Given the description of an element on the screen output the (x, y) to click on. 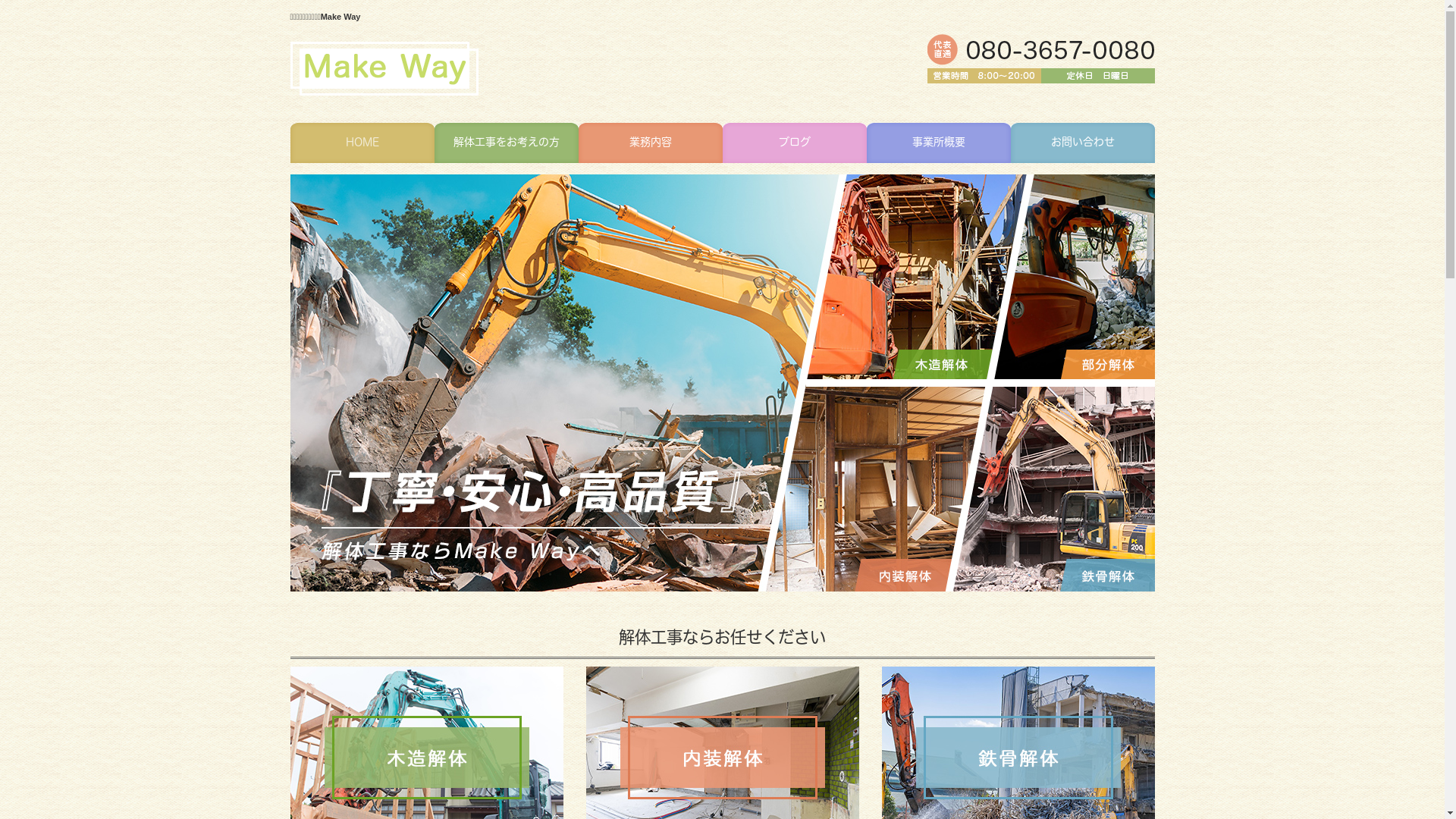
HOME Element type: text (361, 142)
